Given the description of an element on the screen output the (x, y) to click on. 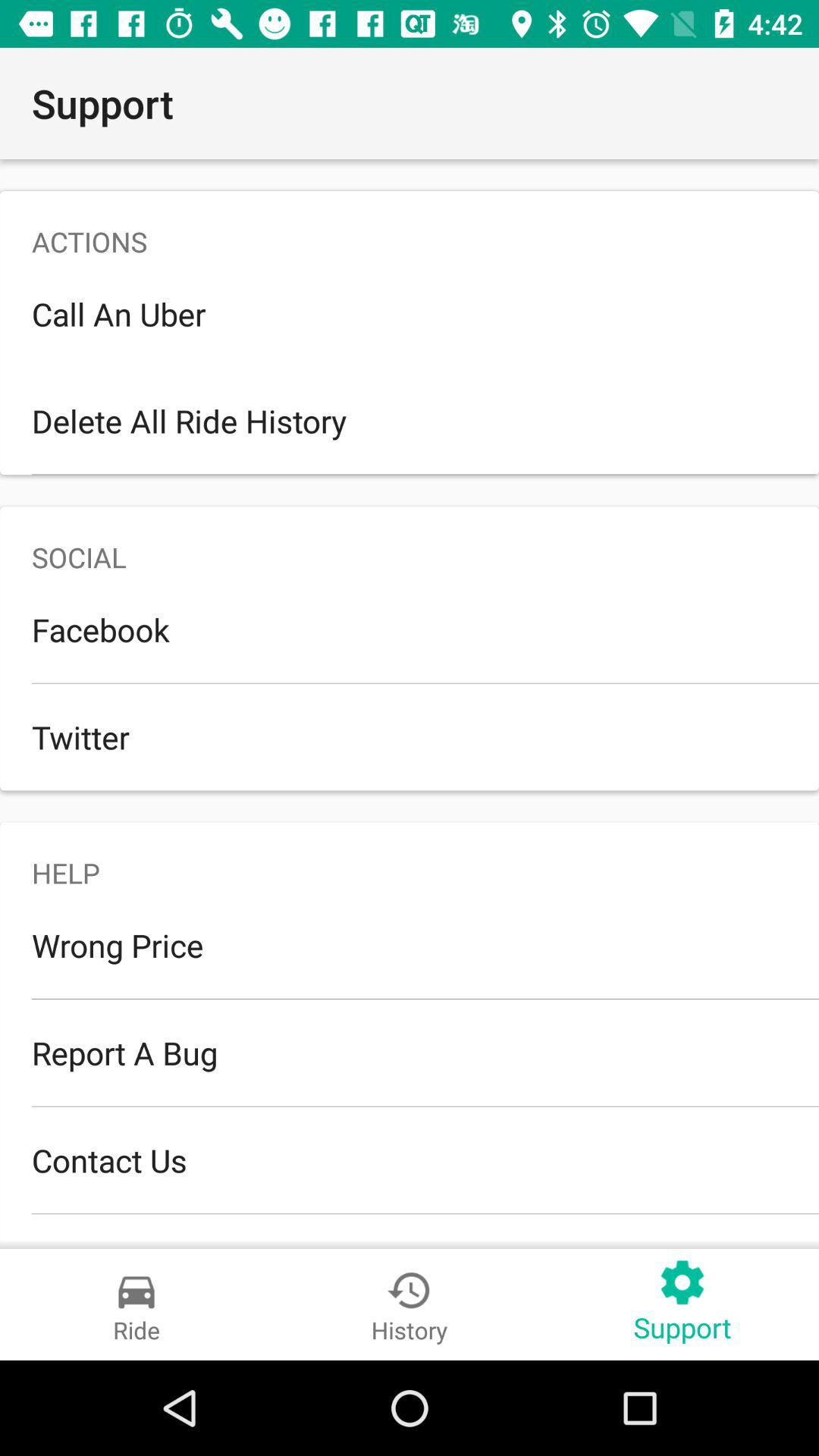
click icon above the delete all ride item (409, 313)
